Given the description of an element on the screen output the (x, y) to click on. 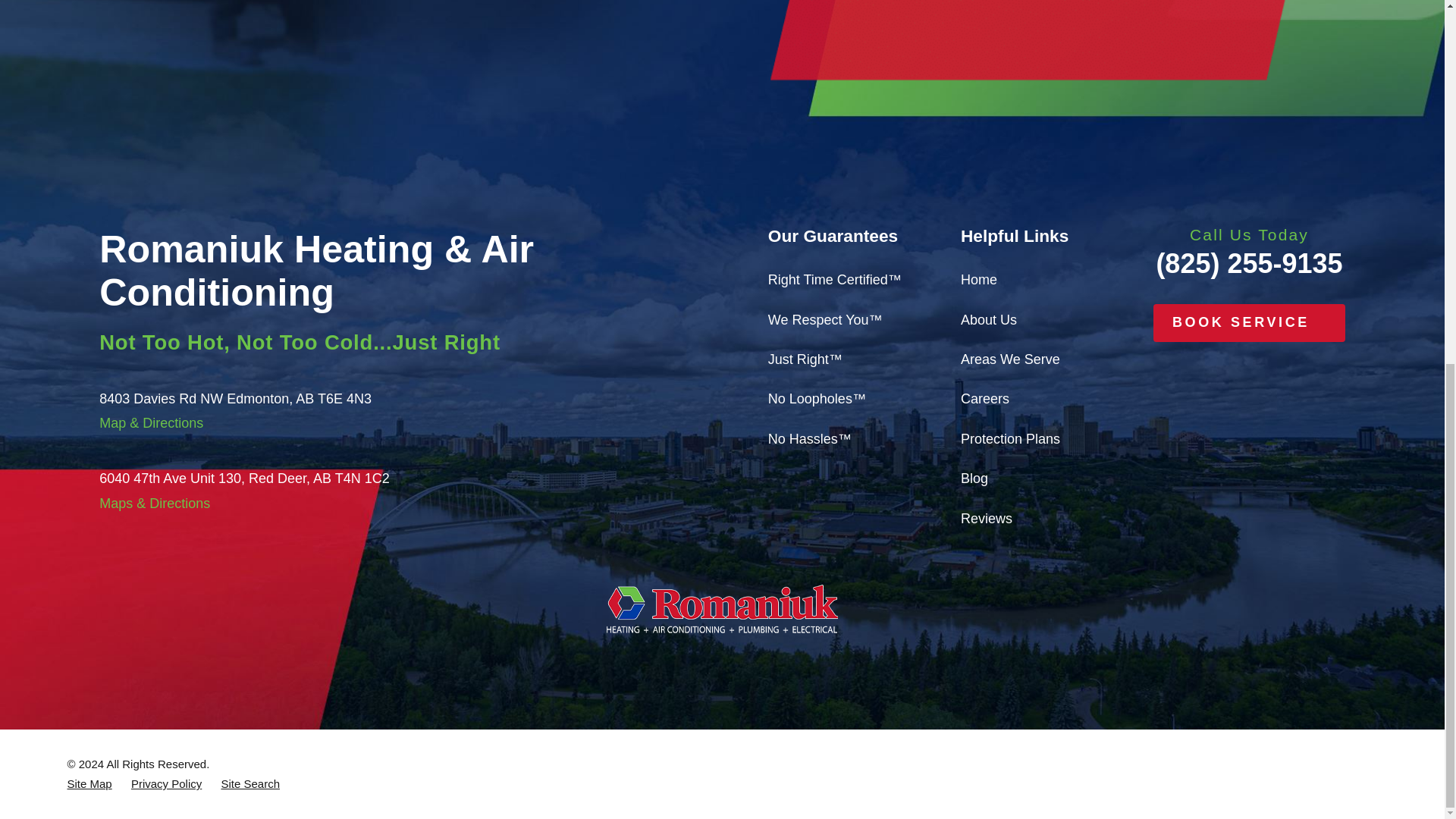
Home (722, 608)
